Given the description of an element on the screen output the (x, y) to click on. 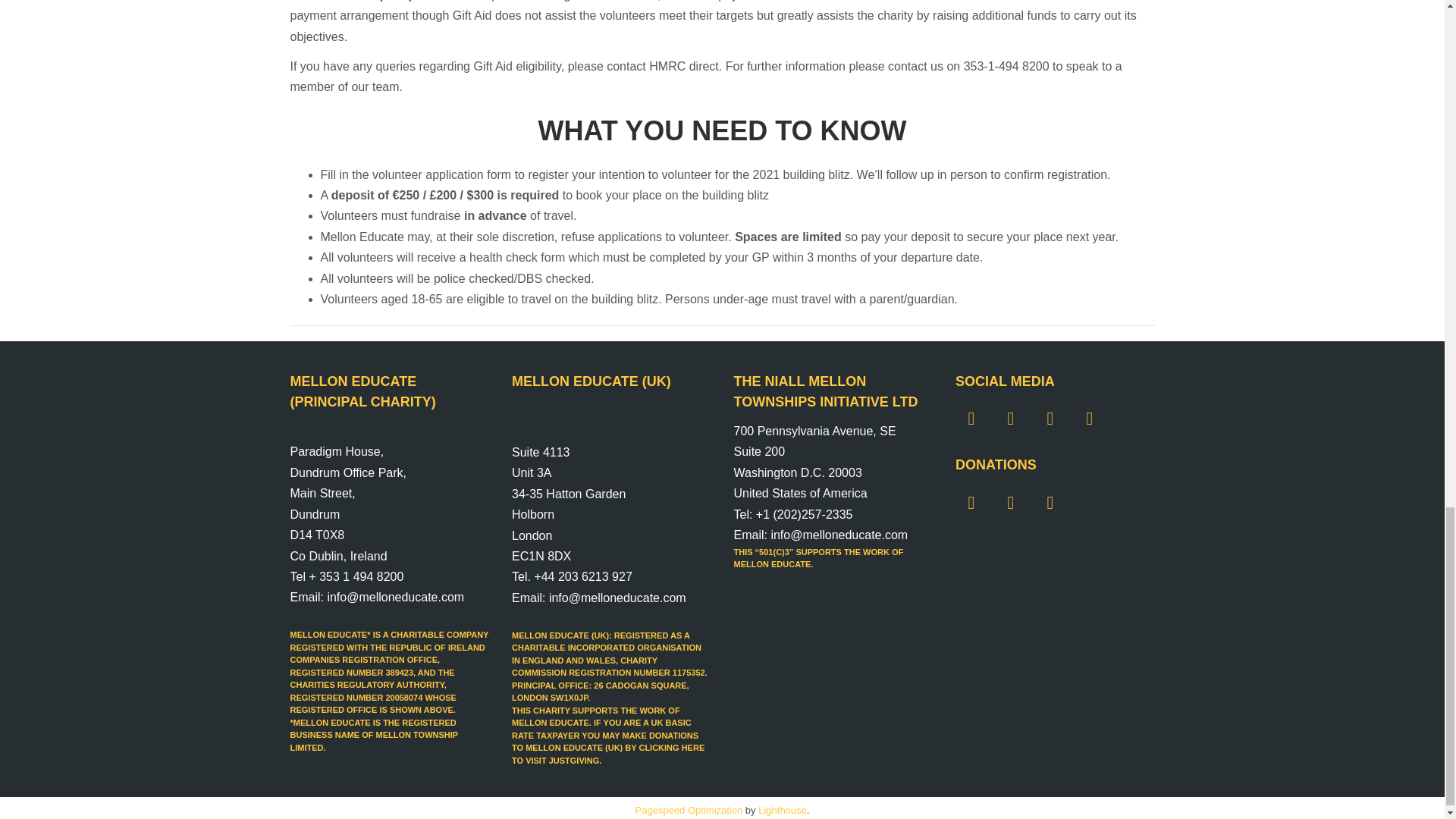
CLICKING HERE TO VISIT JUSTGIVING (608, 753)
